Given the description of an element on the screen output the (x, y) to click on. 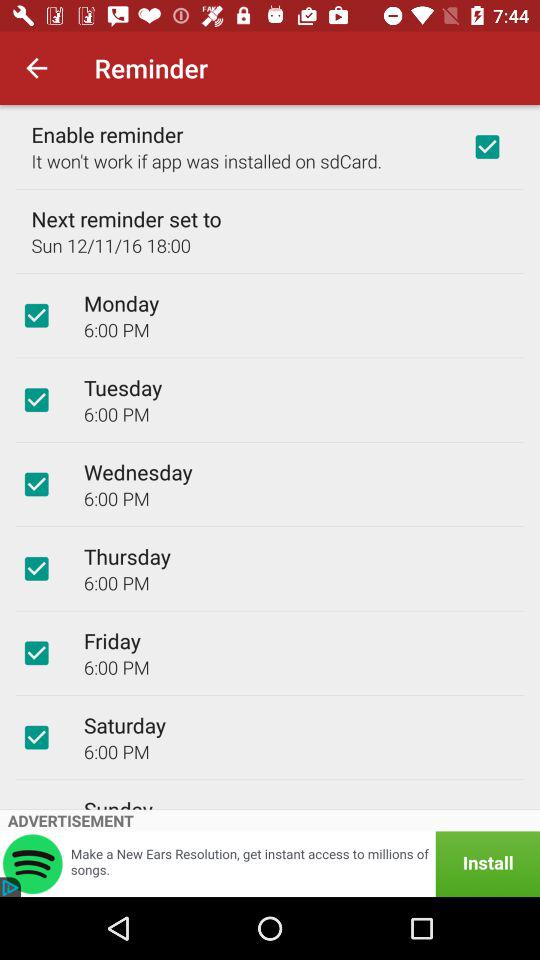
choose the app next to reminder (36, 68)
